Given the description of an element on the screen output the (x, y) to click on. 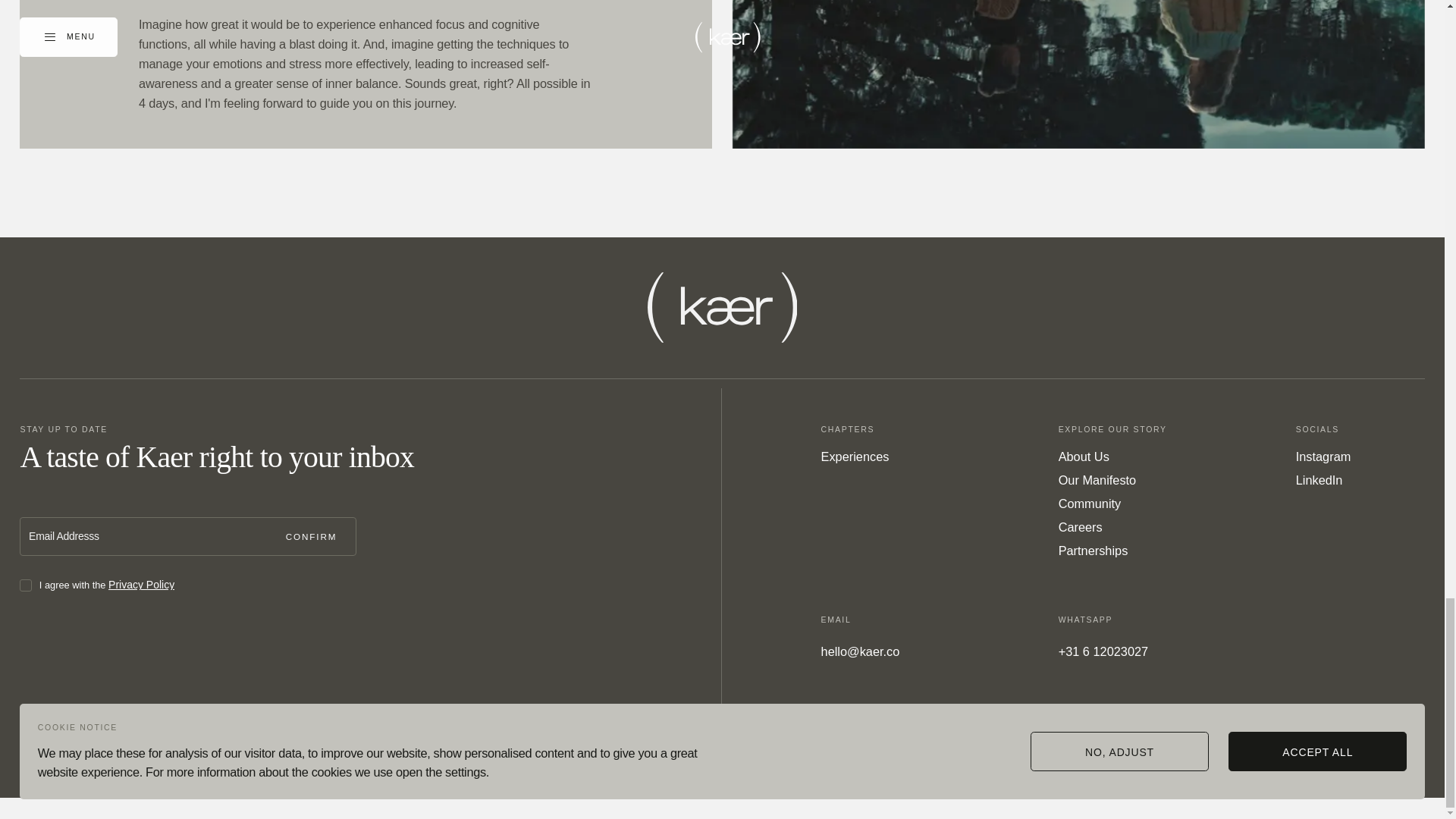
Partnerships (1093, 550)
CONFIRM (317, 537)
Experiences (855, 456)
Instagram (1323, 456)
LinkedIn (1318, 479)
Community (1089, 503)
COOKIE PREFERENCES (1122, 774)
Privacy Policy (140, 584)
Careers (1080, 526)
About Us (1083, 456)
PRIVACY POLICY (1381, 774)
Our Manifesto (1097, 479)
TERMS AND CONDITIONS (1260, 774)
